Given the description of an element on the screen output the (x, y) to click on. 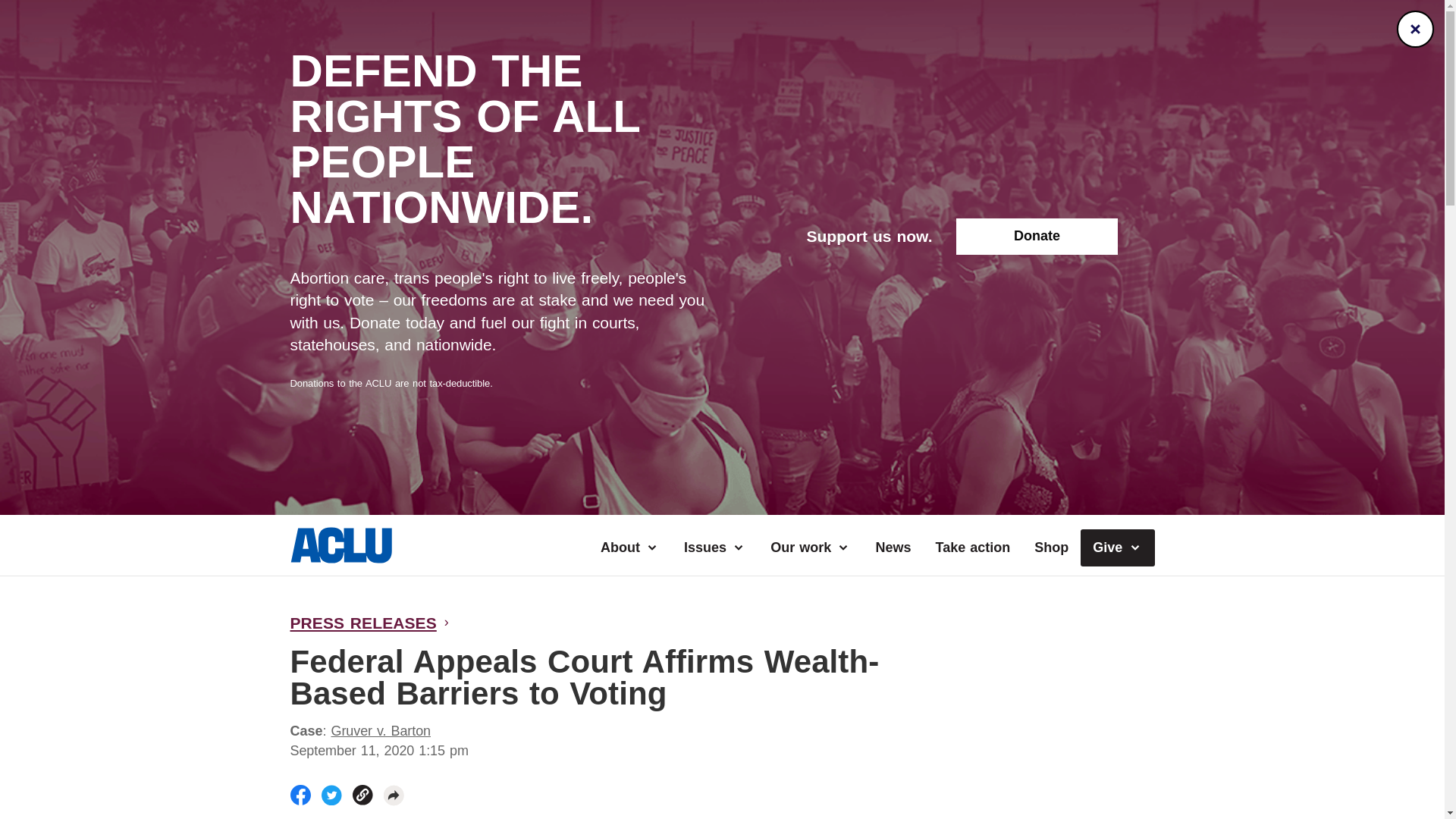
ACLU.org (340, 558)
Donate (1036, 236)
Tweet (331, 794)
About (629, 547)
Copy (362, 794)
Issues (714, 547)
Share on Facebook (299, 794)
Our work (810, 547)
